Given the description of an element on the screen output the (x, y) to click on. 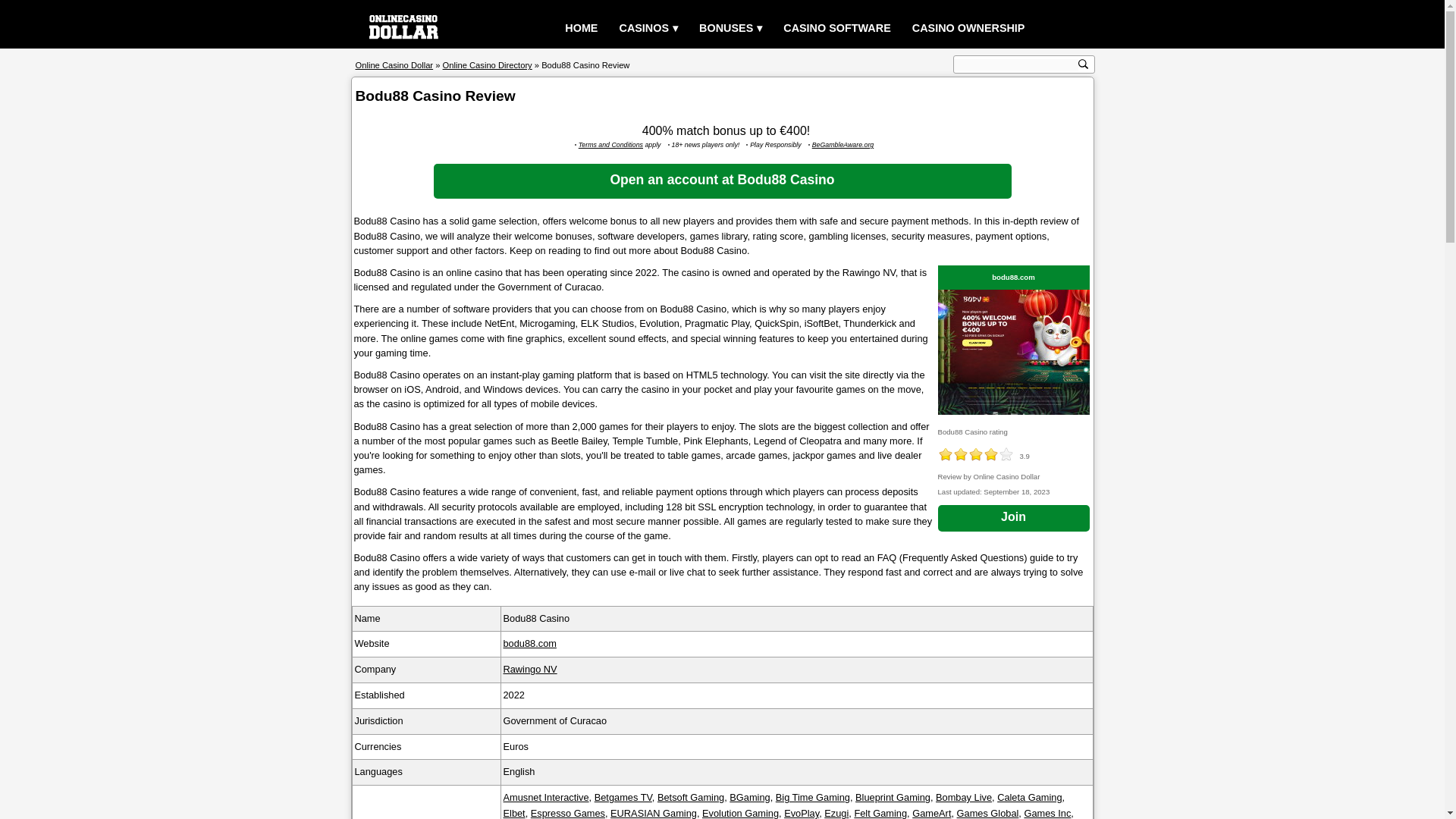
EURASIAN Gaming (653, 813)
CASINO OWNERSHIP (968, 28)
Terms and Conditions (610, 144)
HOME (581, 28)
CASINO SOFTWARE (837, 28)
CASINOS (648, 28)
Amusnet Interactive (546, 797)
bodu88.com (529, 643)
Blueprint Gaming (893, 797)
Felt Gaming (880, 813)
Ezugi (836, 813)
Open an account at Bodu88 Casino (722, 181)
bodu88.com (1013, 277)
Betsoft Gaming (690, 797)
Betgames TV (623, 797)
